Given the description of an element on the screen output the (x, y) to click on. 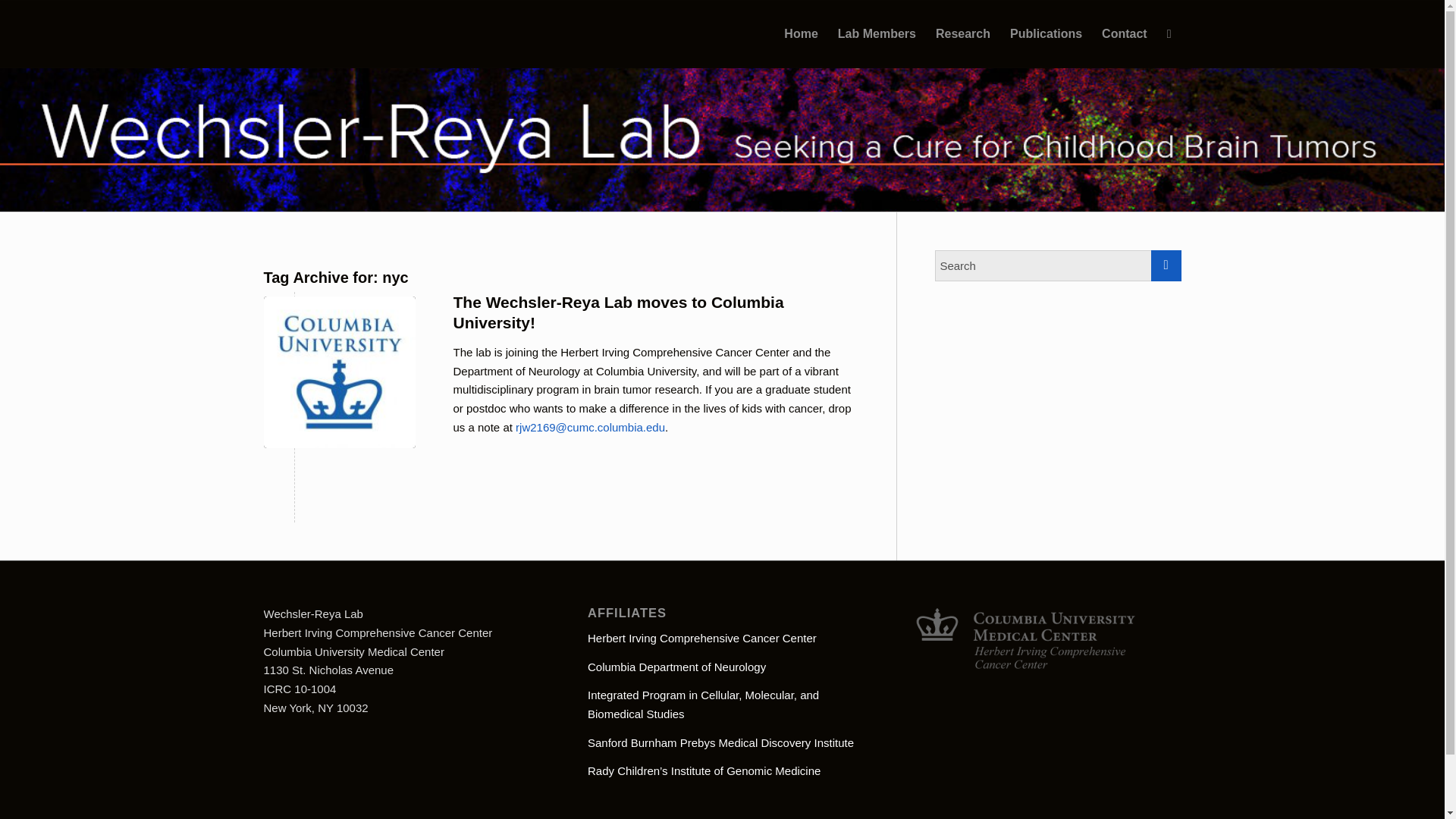
Sanford Burnham Prebys Medical Discovery Institute (720, 741)
Columbia University (338, 371)
Contact (1124, 33)
Publications (1046, 33)
Research (963, 33)
Columbia Department of Neurology (676, 666)
Lab Members (877, 33)
The Wechsler-Reya Lab moves to Columbia University! (618, 311)
Herbert Irving Comprehensive Cancer Center (702, 637)
